Given the description of an element on the screen output the (x, y) to click on. 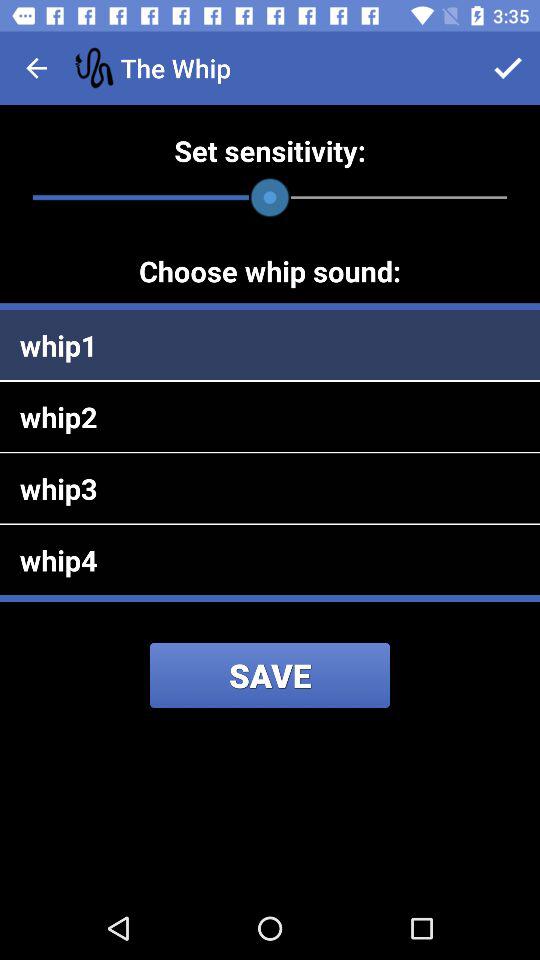
choose the item at the top right corner (508, 67)
